Given the description of an element on the screen output the (x, y) to click on. 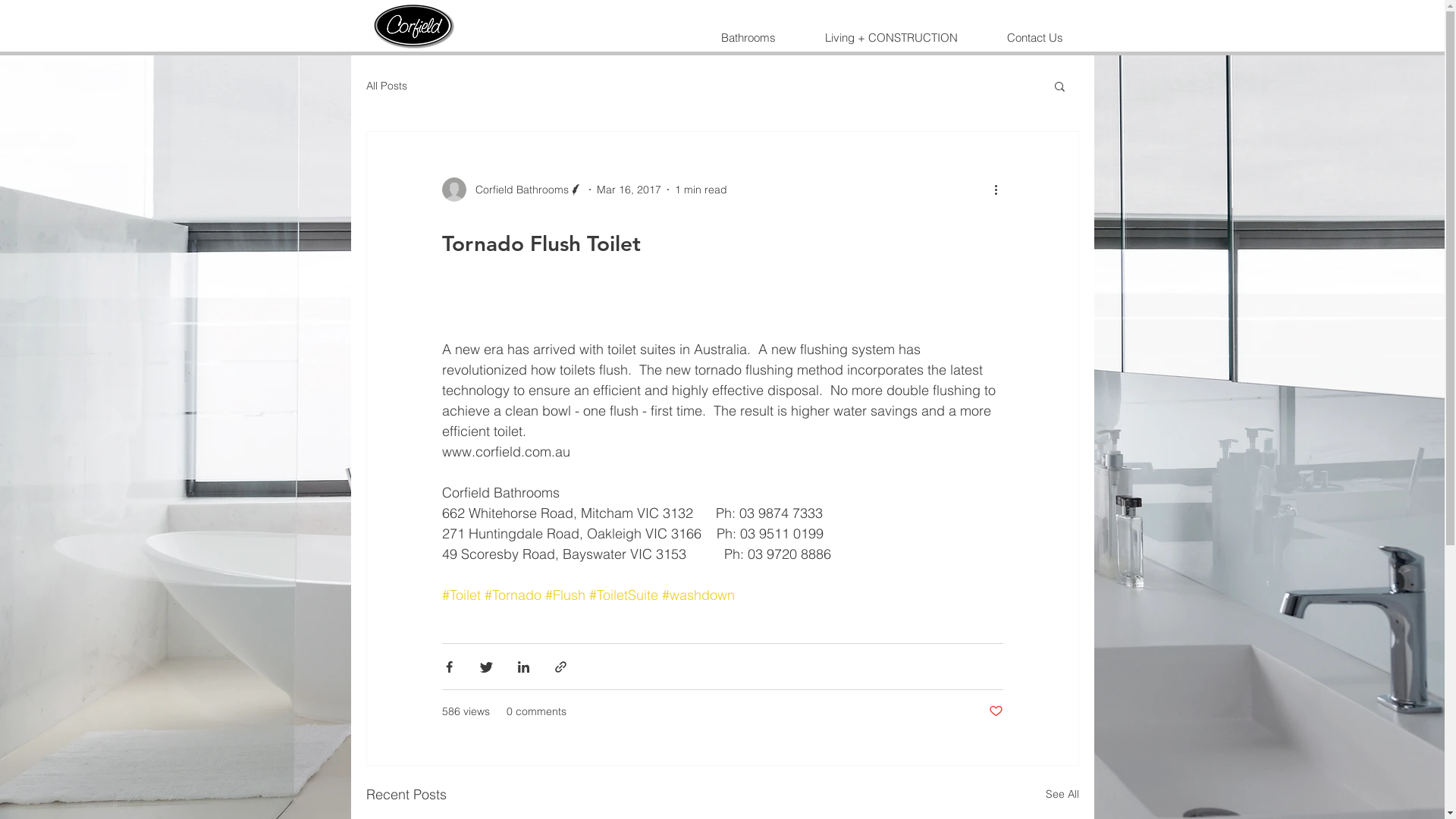
#ToiletSuite Element type: text (622, 594)
All Posts Element type: text (385, 85)
#Flush Element type: text (564, 594)
Contact Us Element type: text (1033, 37)
See All Element type: text (1061, 794)
#Toilet Element type: text (460, 594)
Corfield Bathrooms Element type: text (511, 189)
Living + CONSTRUCTION Element type: text (890, 37)
Post not marked as liked Element type: text (995, 711)
#Tornado Element type: text (511, 594)
Bathrooms Element type: text (747, 37)
#washdown Element type: text (697, 594)
